Given the description of an element on the screen output the (x, y) to click on. 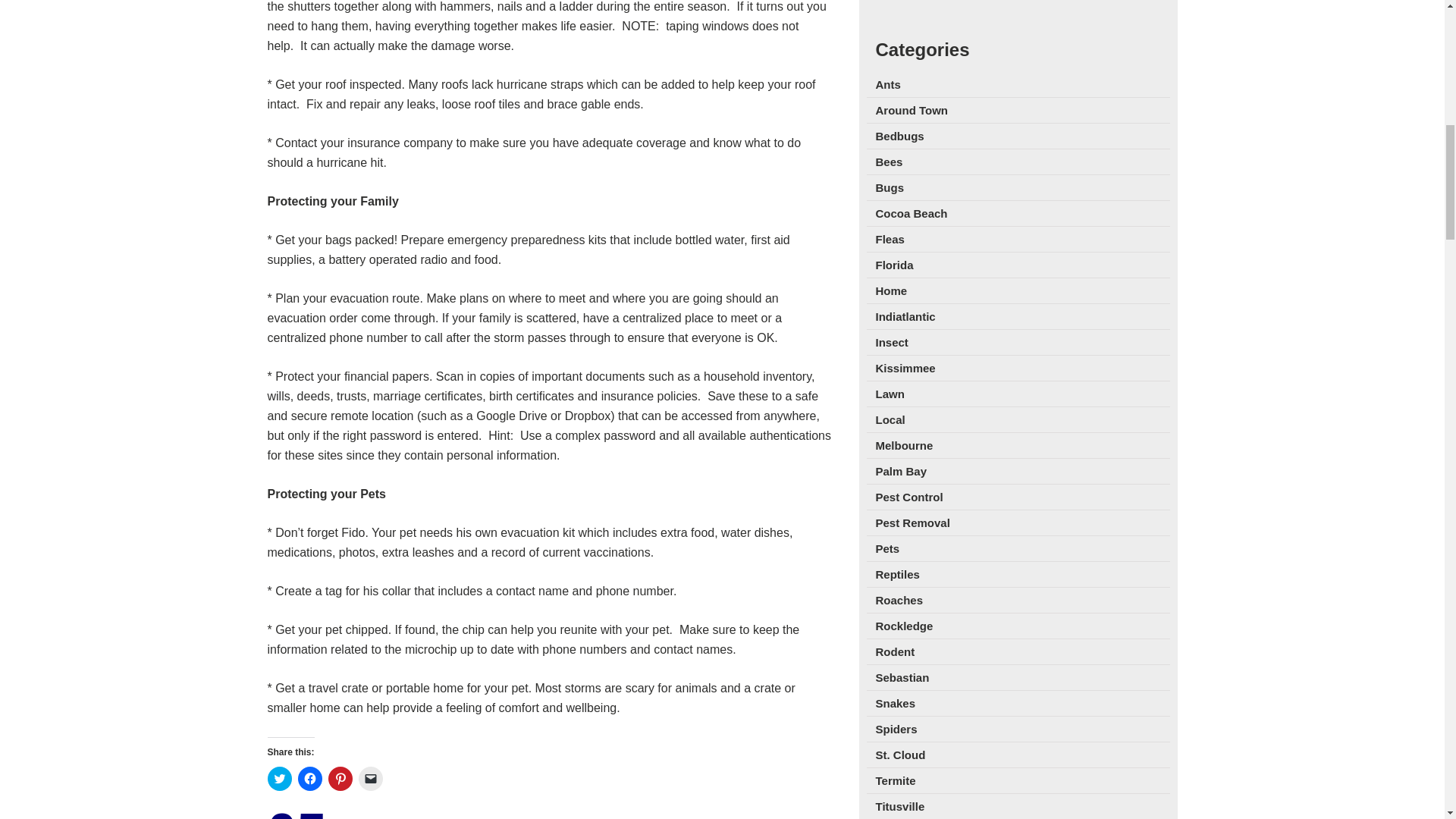
Click to email a link to a friend (369, 778)
Click to share on Twitter (278, 778)
Click to share on Facebook (309, 778)
Click to share on Pinterest (339, 778)
